Given the description of an element on the screen output the (x, y) to click on. 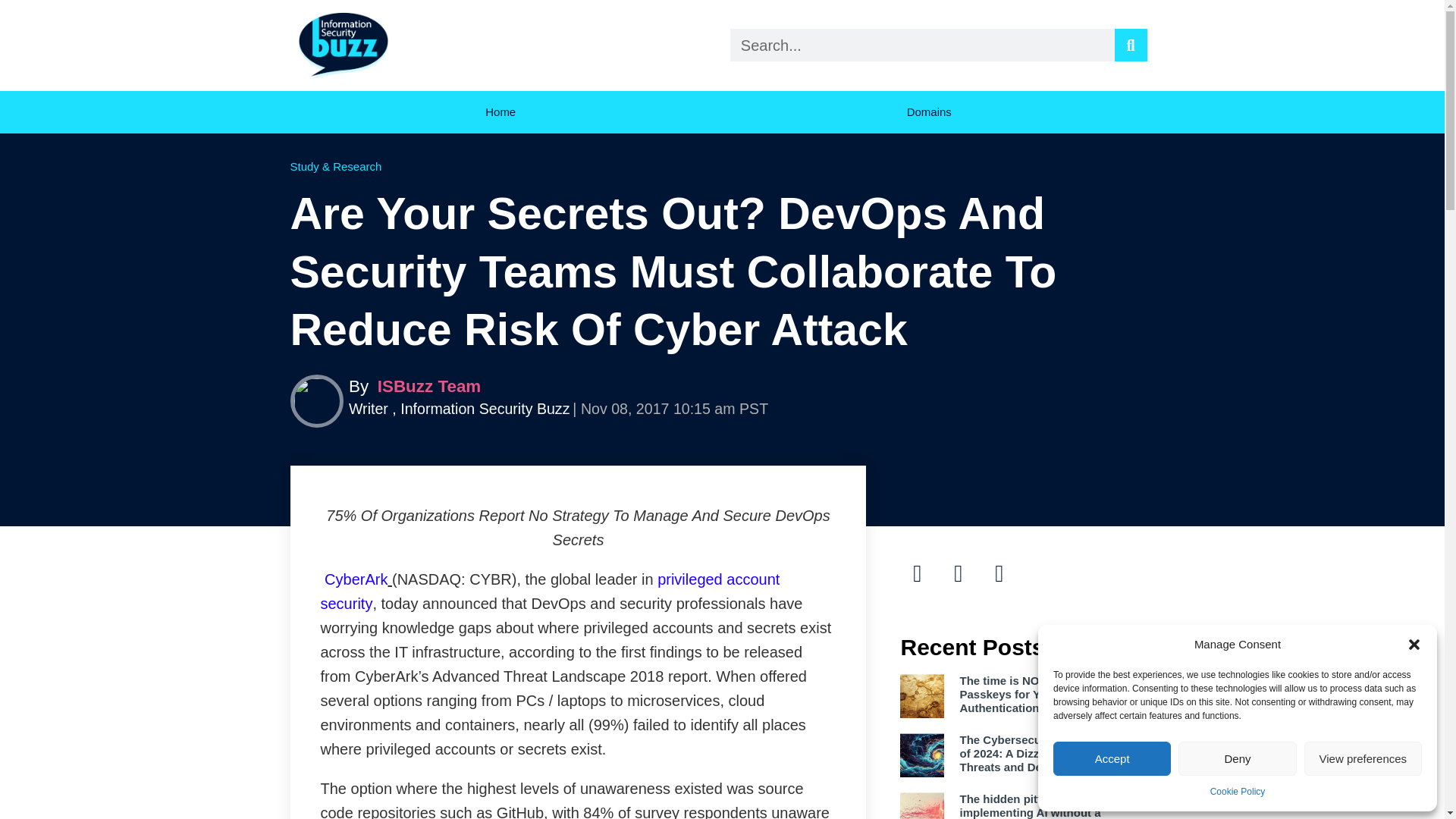
View preferences (1363, 758)
Deny (1236, 758)
Cookie Policy (1237, 791)
Domains (932, 111)
Accept (1111, 758)
Home (499, 111)
